Given the description of an element on the screen output the (x, y) to click on. 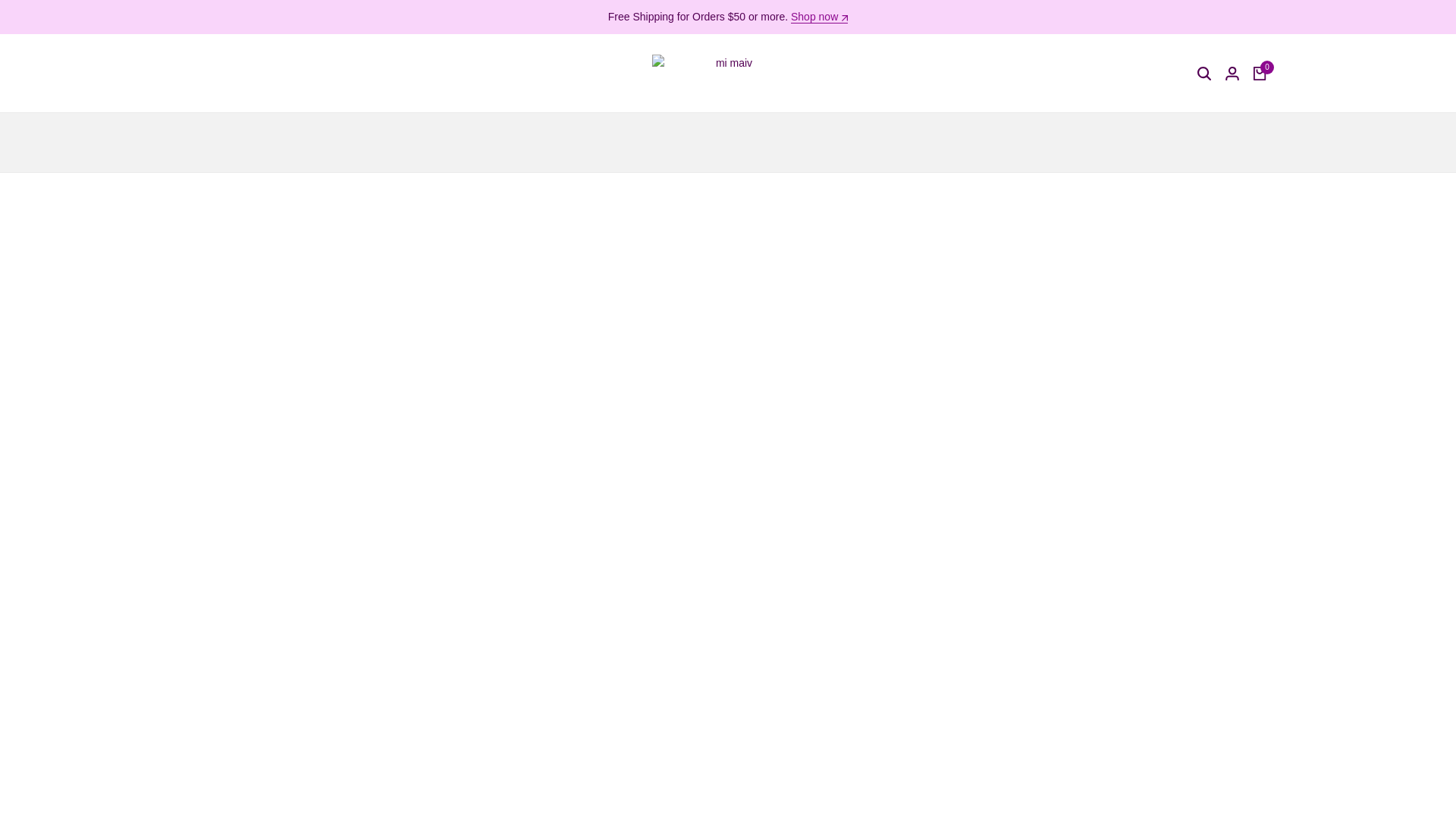
All collections (818, 17)
Shop now (818, 17)
0 (1259, 73)
